Given the description of an element on the screen output the (x, y) to click on. 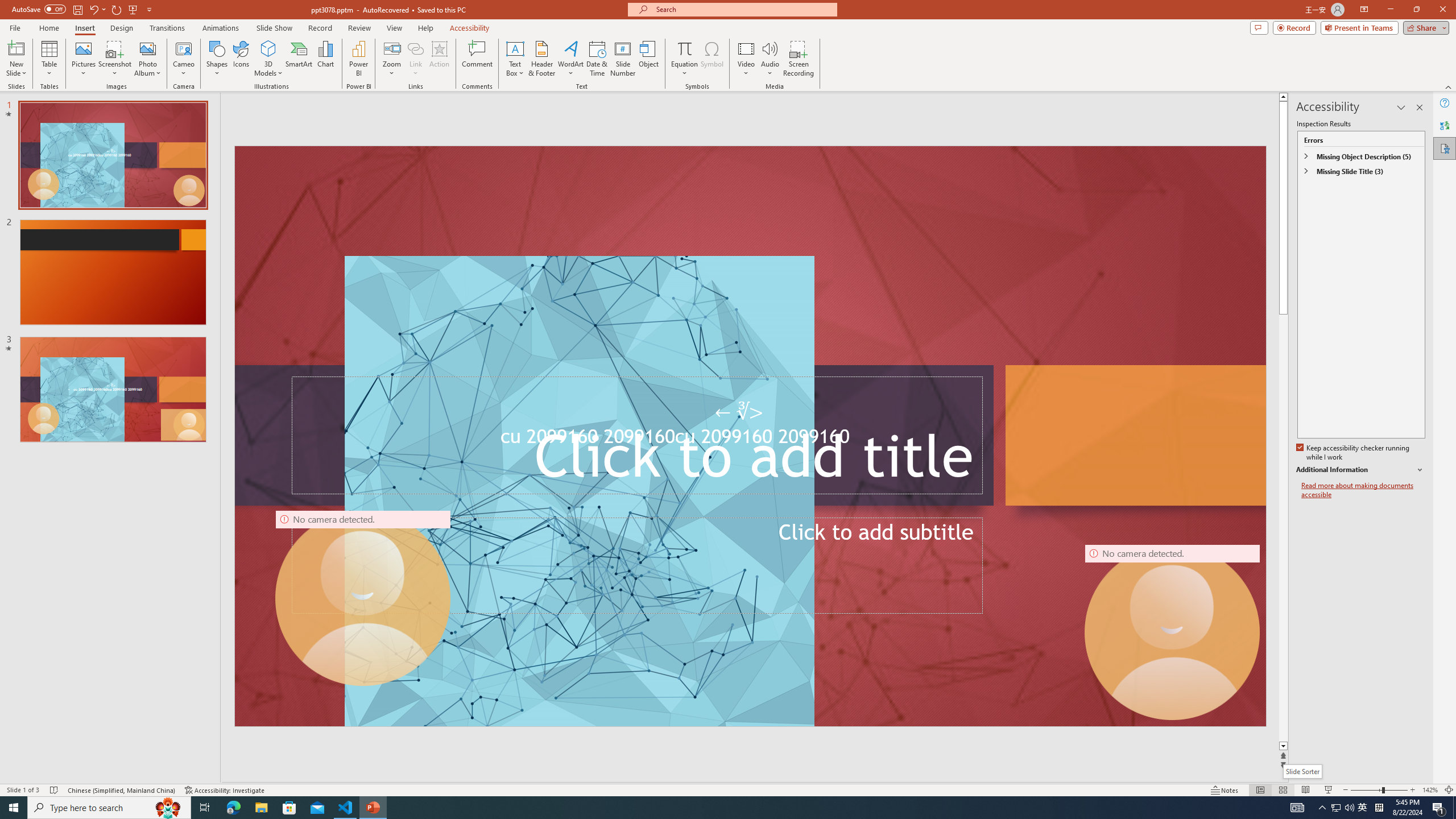
View (395, 28)
Accessibility (1444, 147)
Task Pane Options (1400, 107)
Slide Sorter (1282, 790)
Save (77, 9)
Camera 16, No camera detected. (1172, 631)
Table (49, 58)
3D Models (268, 58)
Audio (769, 58)
An abstract genetic concept (750, 435)
Present in Teams (1359, 27)
Object... (649, 58)
Line up (1284, 96)
Equation (683, 58)
